Given the description of an element on the screen output the (x, y) to click on. 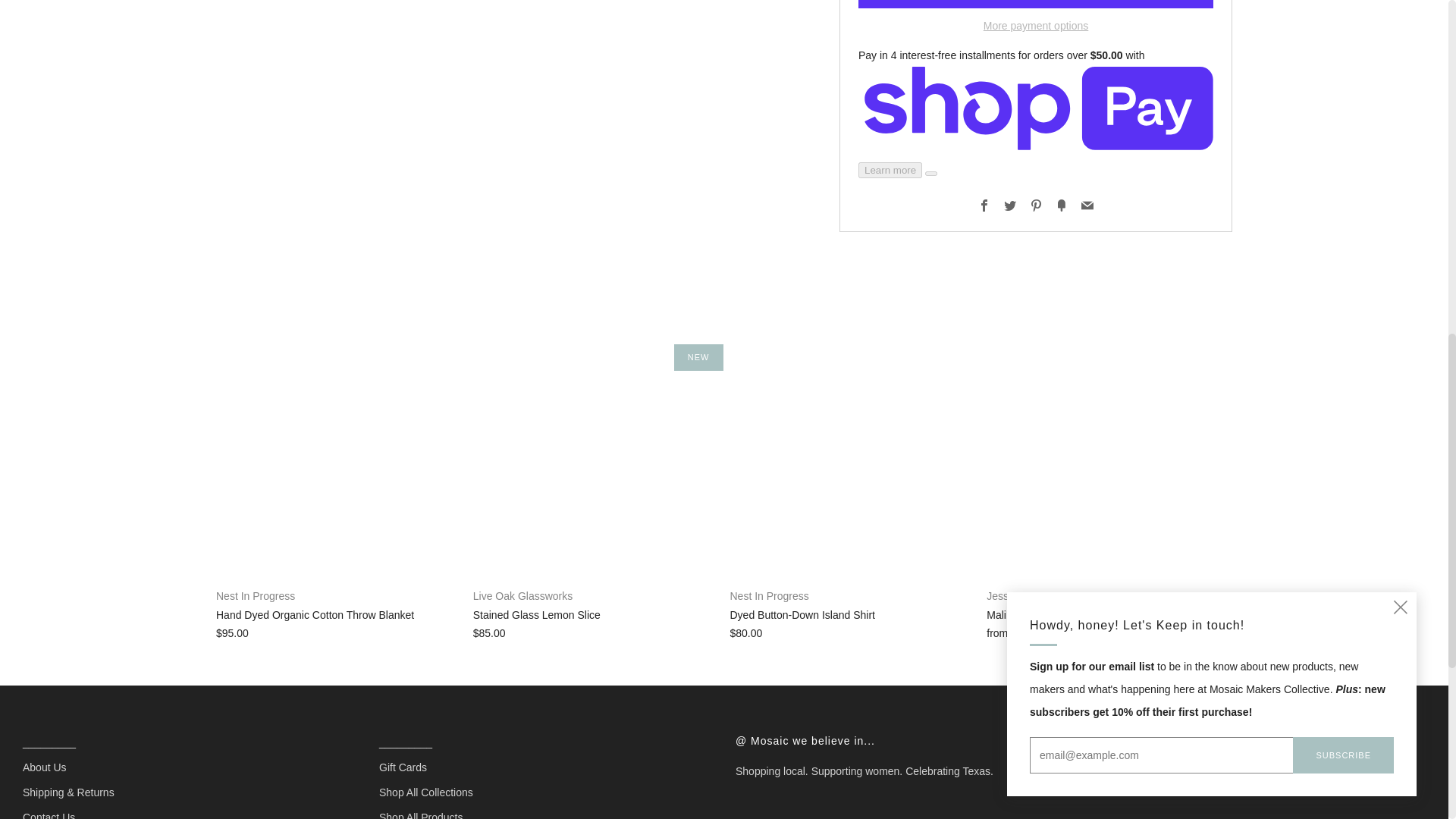
Hand Dyed Organic Cotton Throw Blanket (338, 632)
Stained Glass Lemon Slice (596, 632)
Hand Dyed Organic Cotton Throw Blanket (338, 604)
Stained Glass Lemon Slice (596, 604)
